Given the description of an element on the screen output the (x, y) to click on. 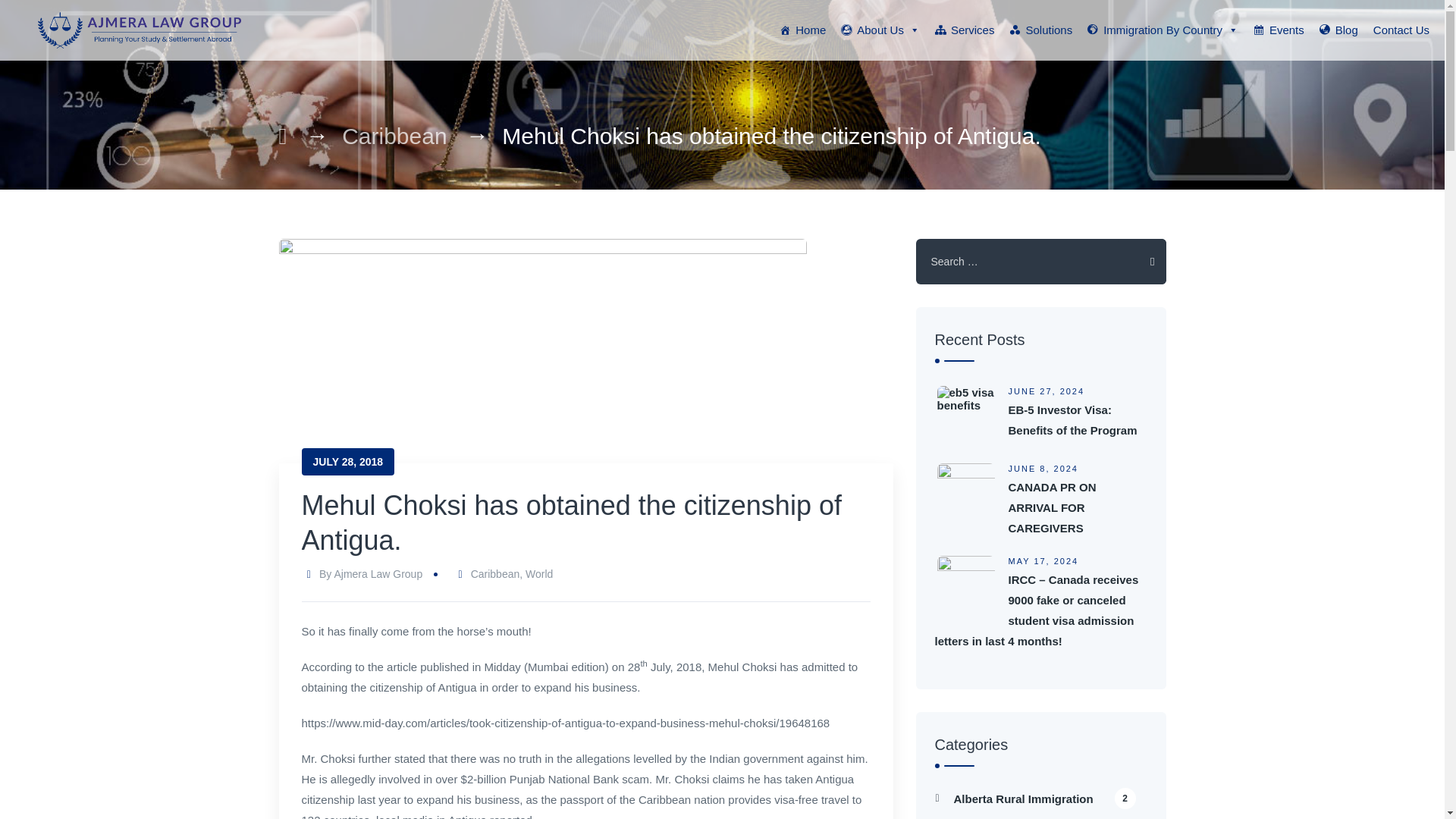
Services (965, 30)
Home (801, 30)
Immigration By Country (1163, 30)
Ajmera Law (139, 30)
Search (1142, 261)
Go to the Caribbean category archives. (394, 135)
About Us (879, 30)
Solutions (1040, 30)
Search (1142, 261)
